Given the description of an element on the screen output the (x, y) to click on. 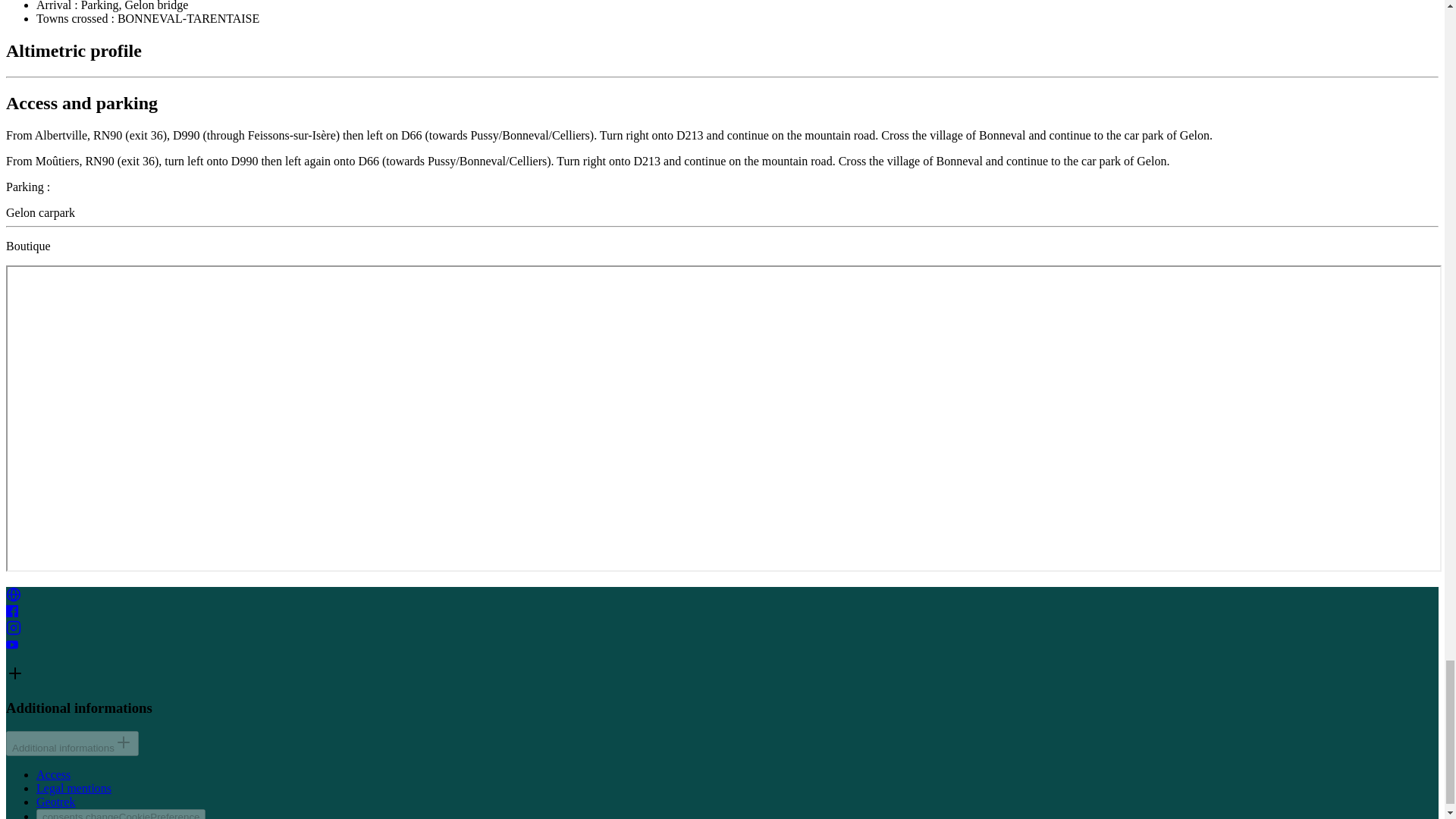
Additional informations (71, 743)
Access (52, 774)
Geotrek (55, 801)
Legal mentions (74, 788)
